Given the description of an element on the screen output the (x, y) to click on. 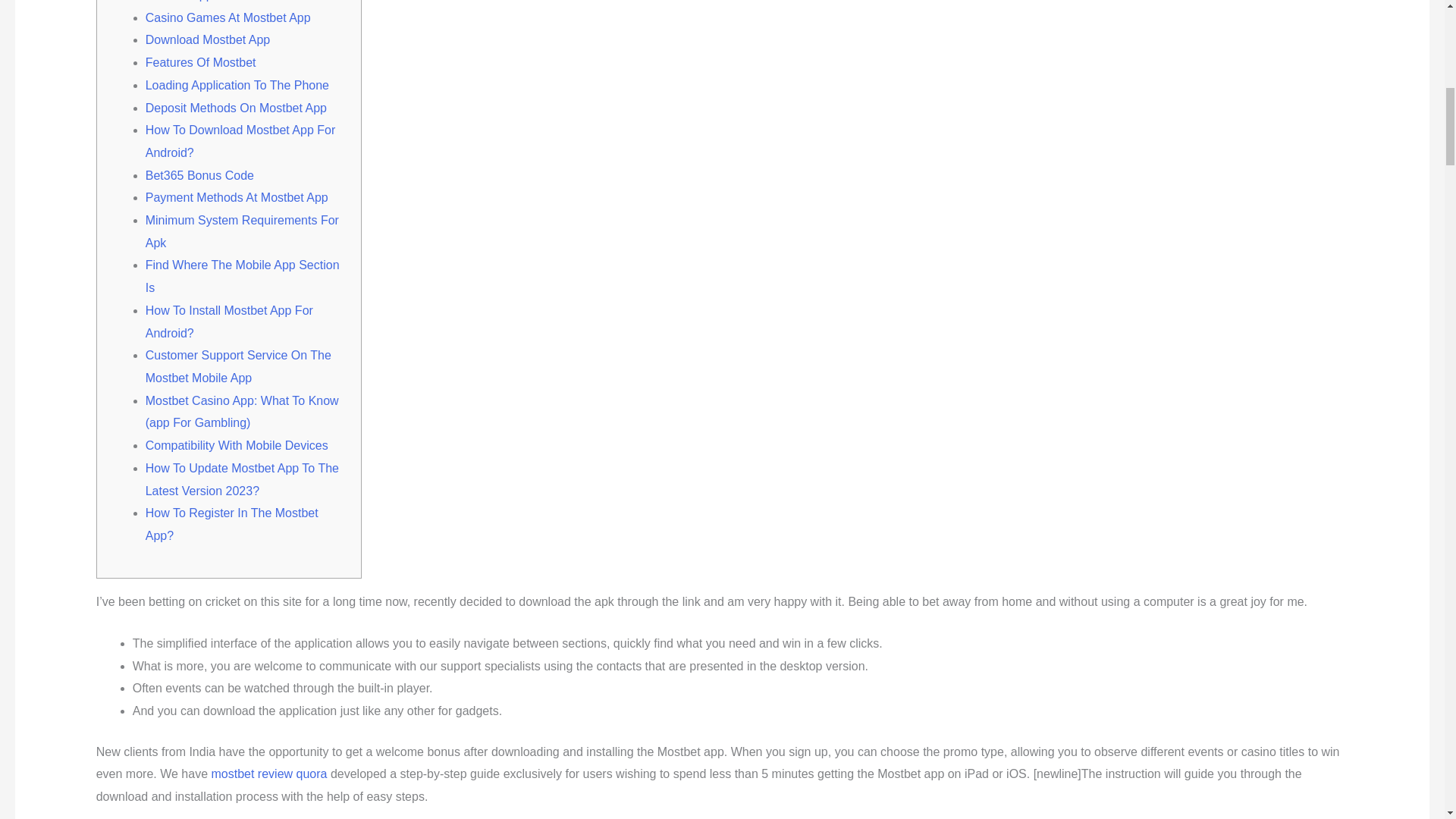
Mostbet App Review (200, 0)
Payment Methods At Mostbet App (237, 196)
Casino Games At Mostbet App (228, 17)
Features Of Mostbet (200, 62)
Download Mostbet App (207, 39)
Bet365 Bonus Code (199, 174)
Deposit Methods On Mostbet App (235, 107)
Customer Support Service On The Mostbet Mobile App (238, 366)
How To Download Mostbet App For Android? (240, 140)
Minimum System Requirements For Apk (242, 231)
Loading Application To The Phone (237, 84)
How To Install Mostbet App For Android? (229, 321)
Find Where The Mobile App Section Is (242, 276)
